Given the description of an element on the screen output the (x, y) to click on. 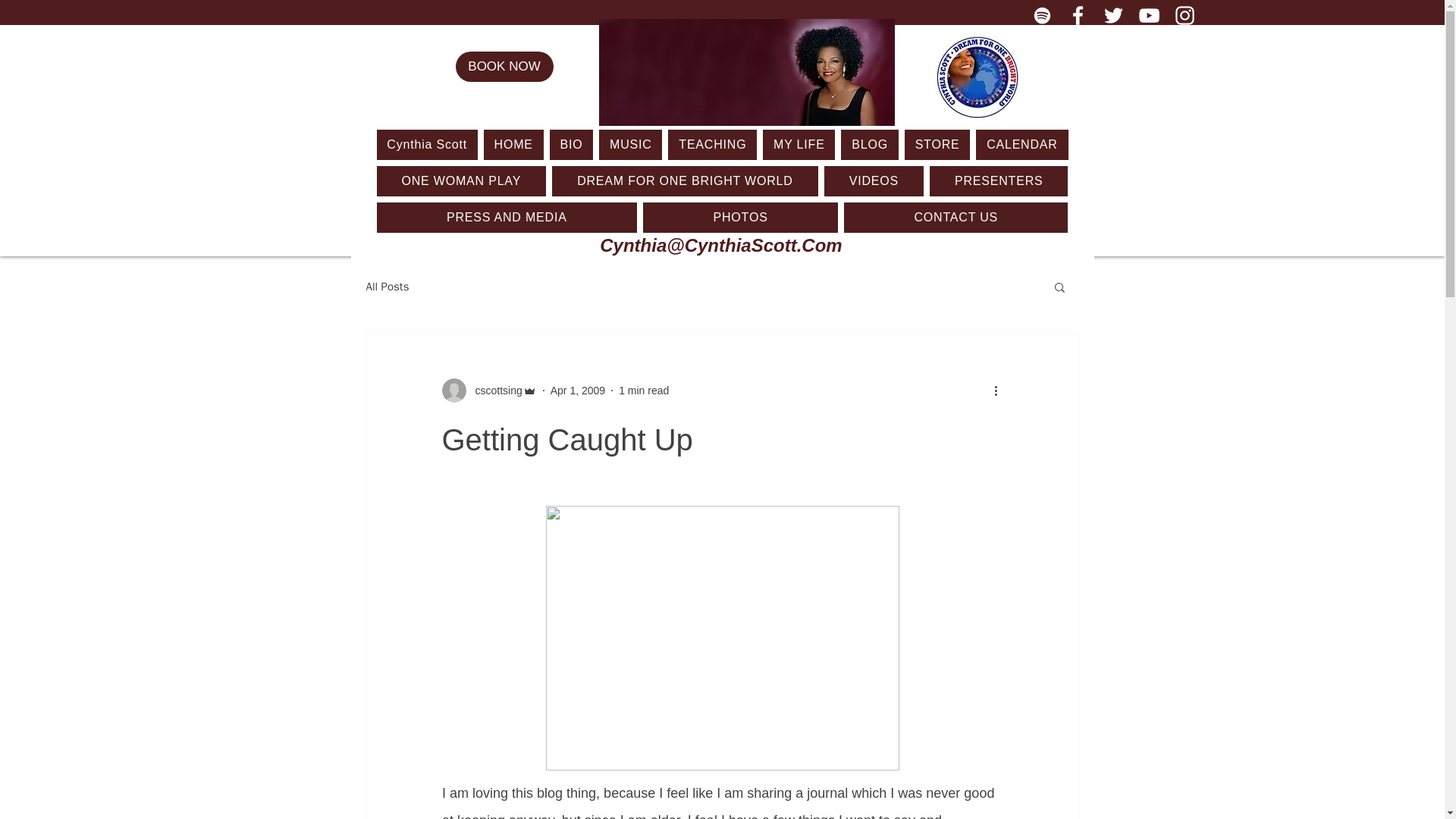
All Posts (387, 287)
VIDEOS (873, 181)
ONE WOMAN PLAY (460, 181)
Apr 1, 2009 (577, 390)
PRESENTERS (999, 181)
1 min read (643, 390)
CONTACT US (955, 217)
Cynthia Scott (426, 144)
CALENDAR (1021, 144)
HOME (513, 144)
STORE (937, 144)
PRESS AND MEDIA (506, 217)
PHOTOS (740, 217)
BIO (572, 144)
BOOK NOW (503, 66)
